Given the description of an element on the screen output the (x, y) to click on. 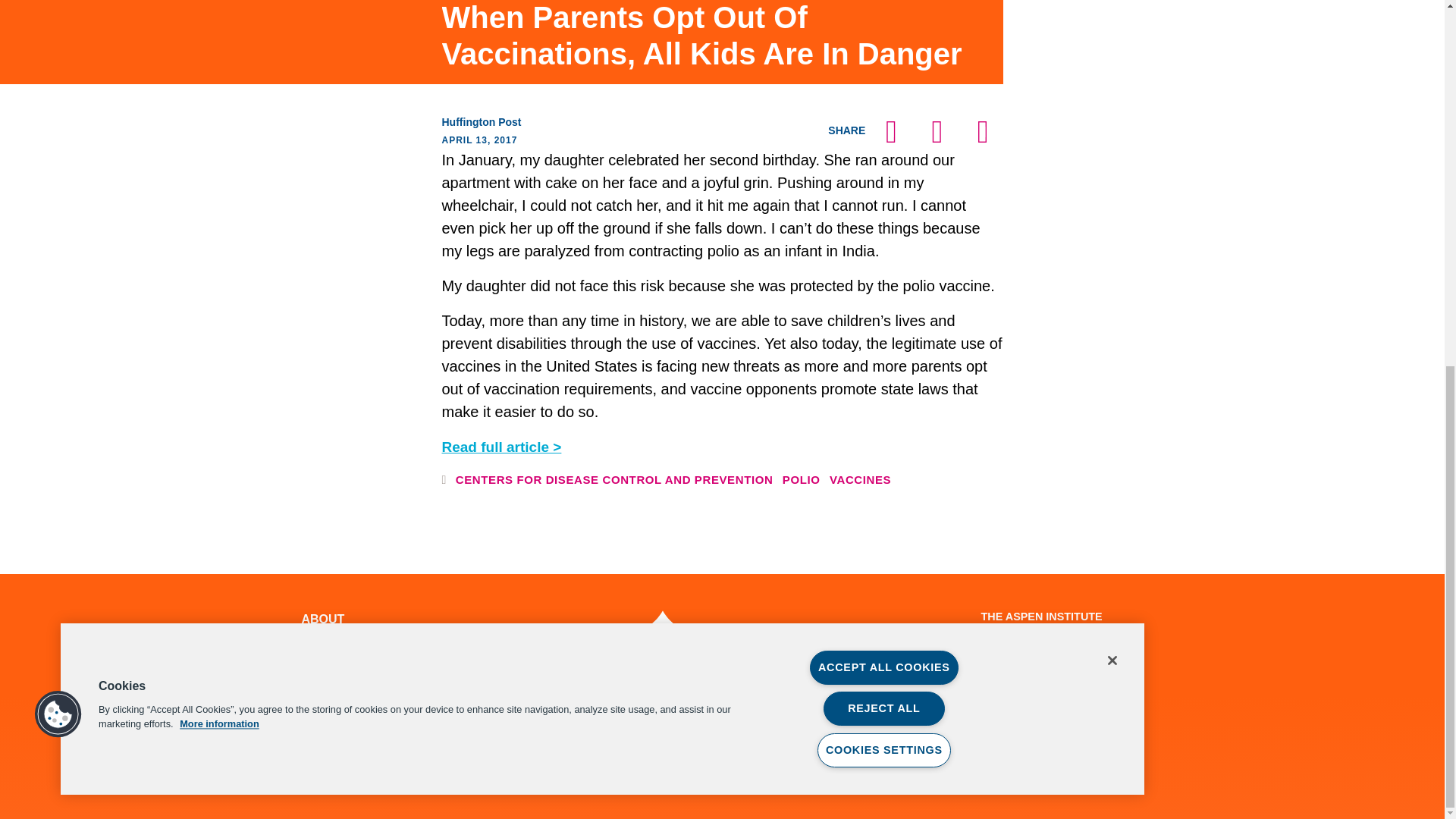
FELLOWS (331, 636)
FAQ (313, 727)
LINKEDIN (754, 710)
TWITTER (612, 710)
The Aspen Institute (686, 637)
Cookies Button (57, 55)
ABOUT (323, 618)
YOUTUBE (682, 710)
IMPACT (324, 655)
FACEBOOK (537, 710)
